Given the description of an element on the screen output the (x, y) to click on. 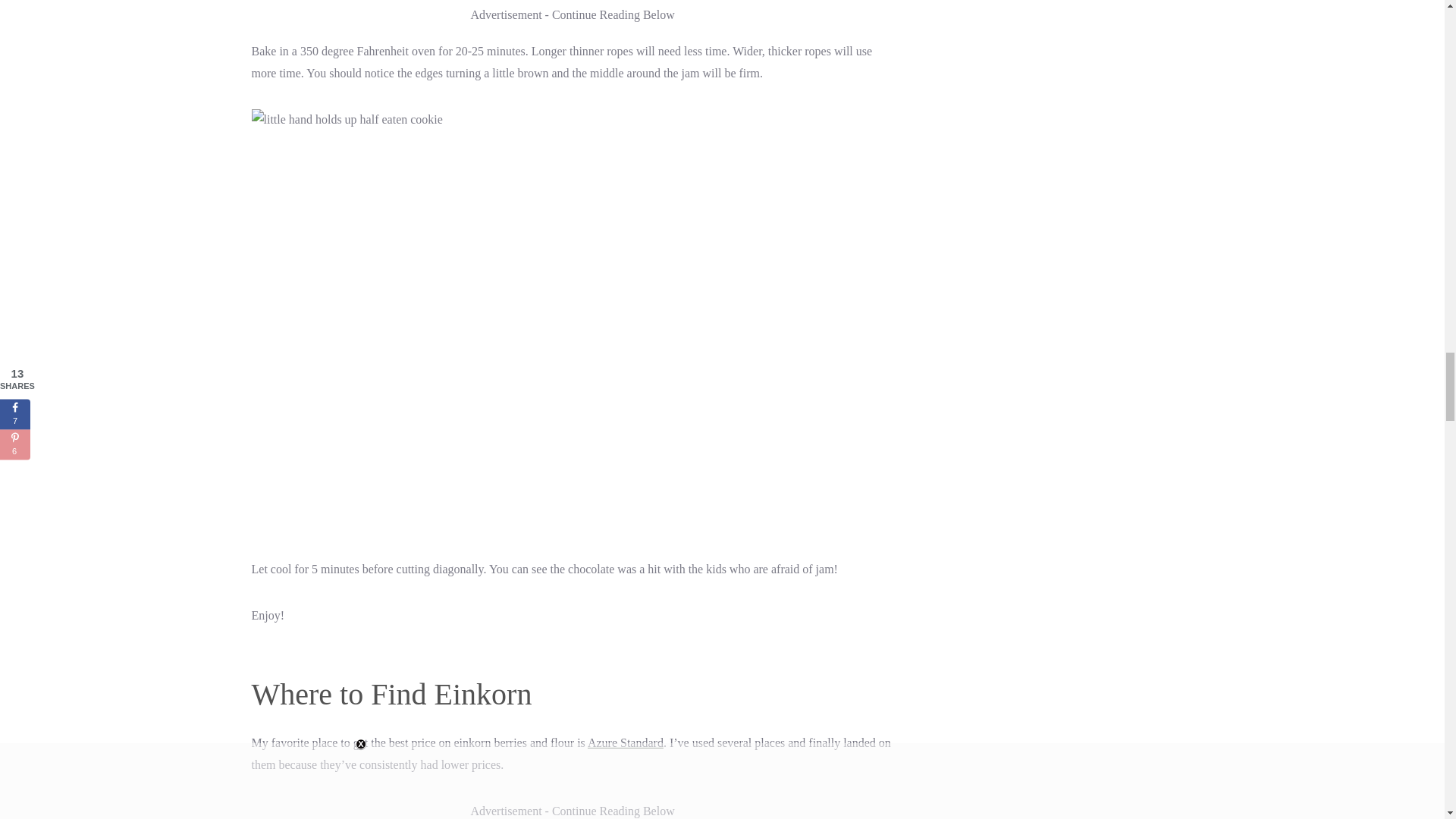
Azure Standard (625, 742)
